Given the description of an element on the screen output the (x, y) to click on. 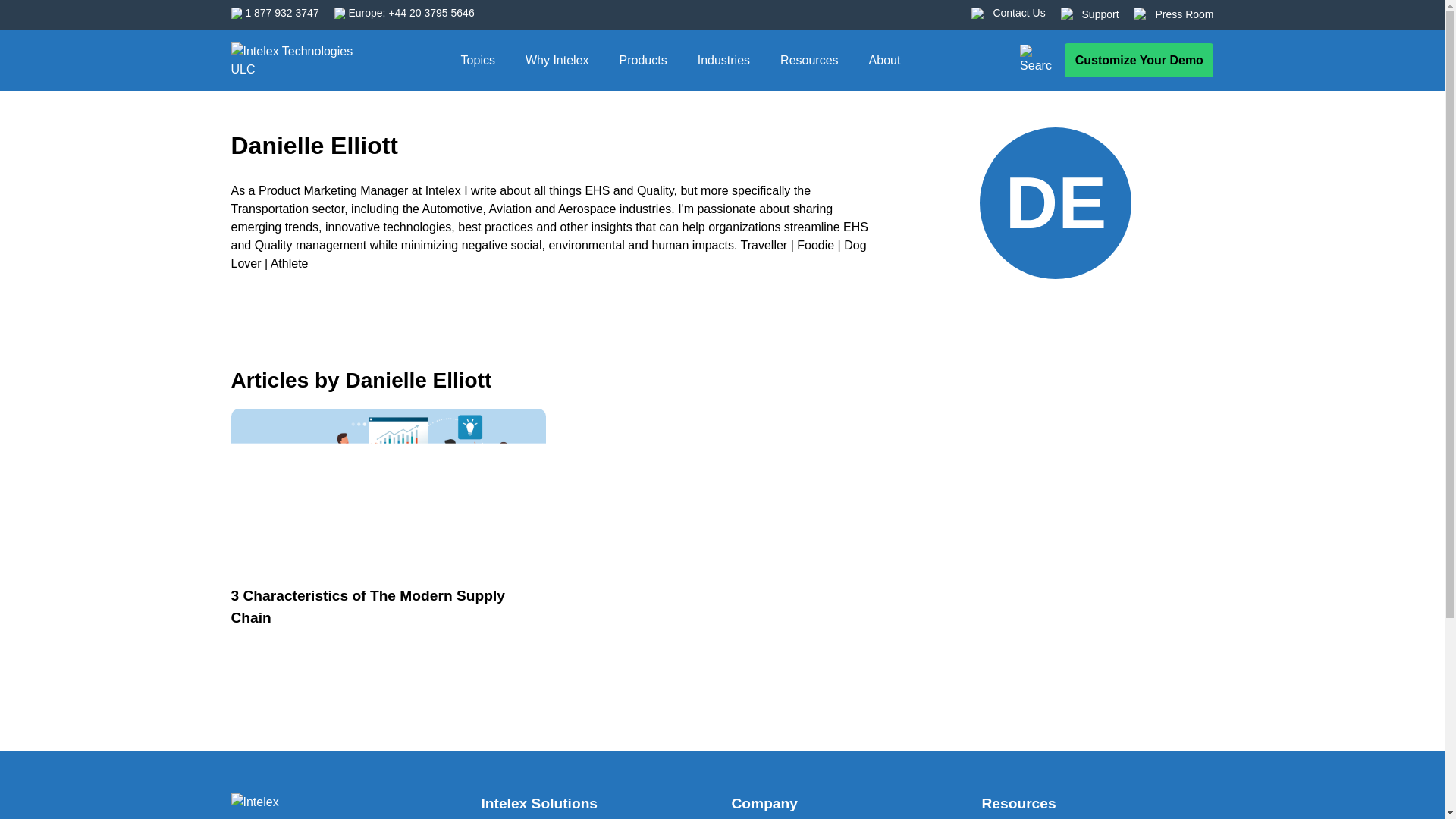
Why Intelex (557, 60)
3 Characteristics of The Modern Supply Chain (291, 803)
Press Room (1183, 14)
Support (1100, 14)
Products (643, 60)
Contact Us (1018, 13)
1 877 932 3747 (281, 13)
Topics (478, 60)
